Given the description of an element on the screen output the (x, y) to click on. 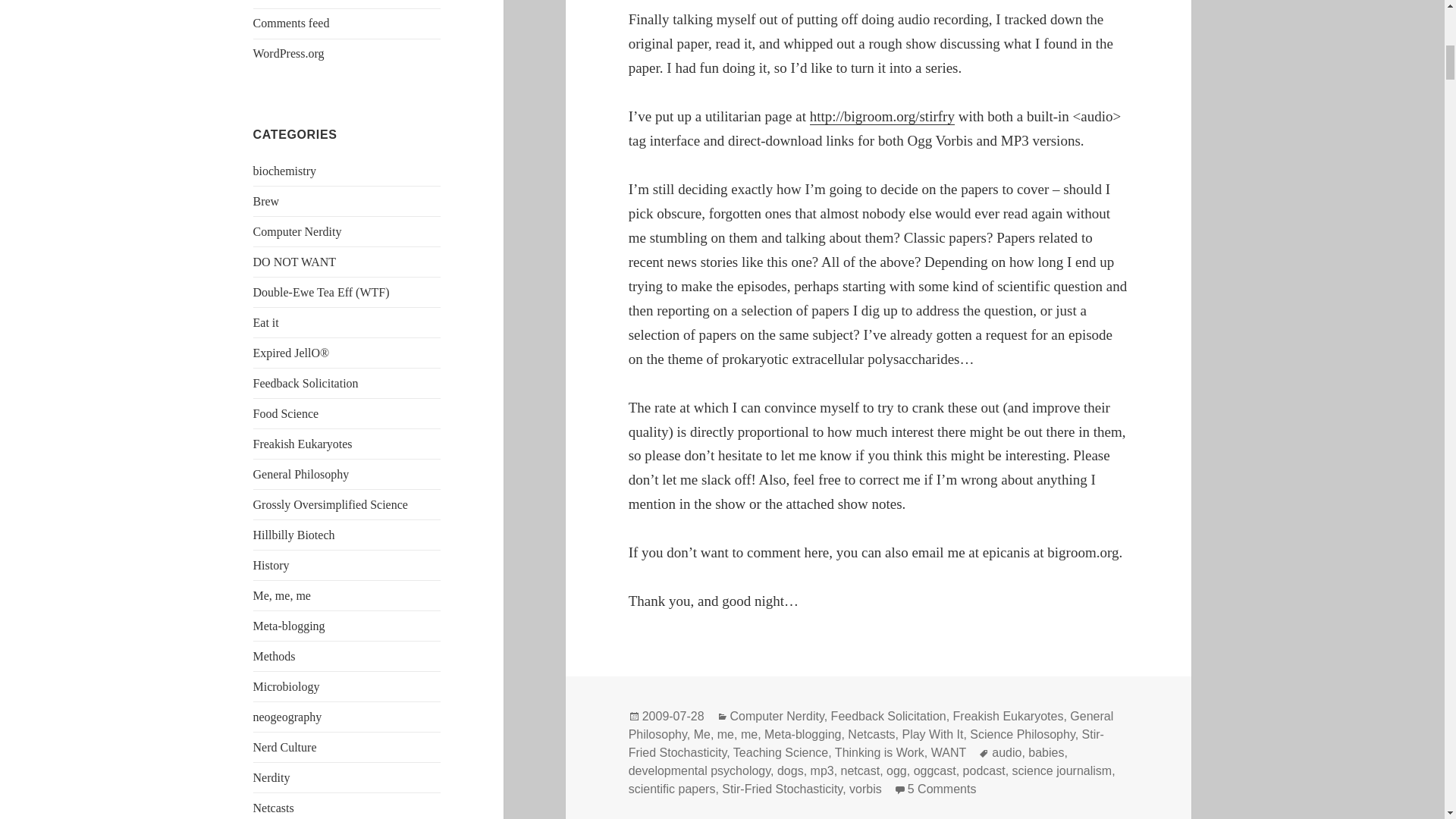
Food Science (285, 413)
biochemistry (285, 170)
Me, me, me (282, 594)
Brew (266, 201)
Freakish Eukaryotes (302, 443)
WordPress.org (288, 52)
Nerd Culture (285, 747)
History (271, 564)
Methods (274, 656)
General Philosophy (301, 473)
